Given the description of an element on the screen output the (x, y) to click on. 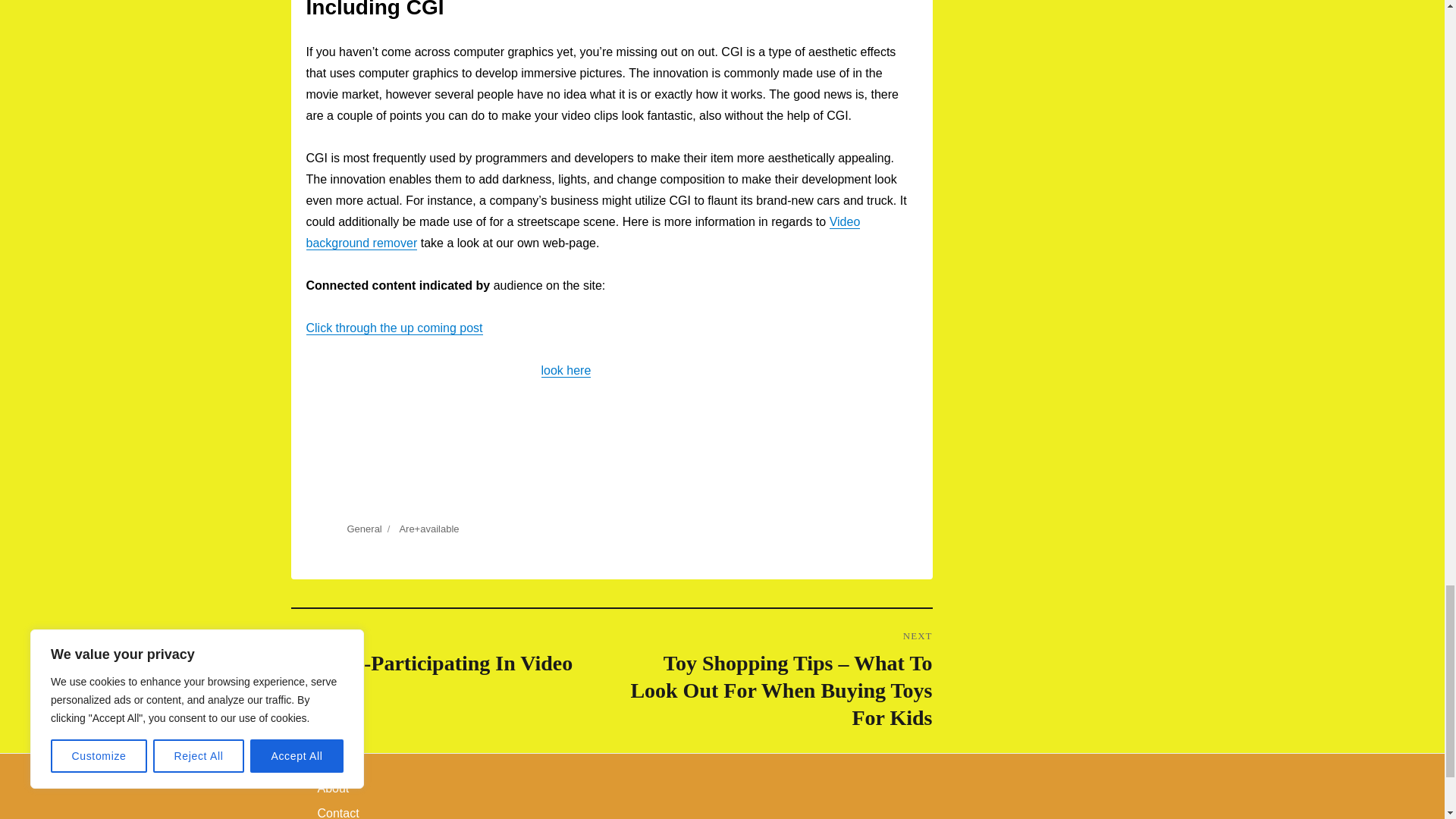
General (364, 528)
Video background remover (582, 232)
look here (566, 369)
Click through the up coming post (394, 327)
